Given the description of an element on the screen output the (x, y) to click on. 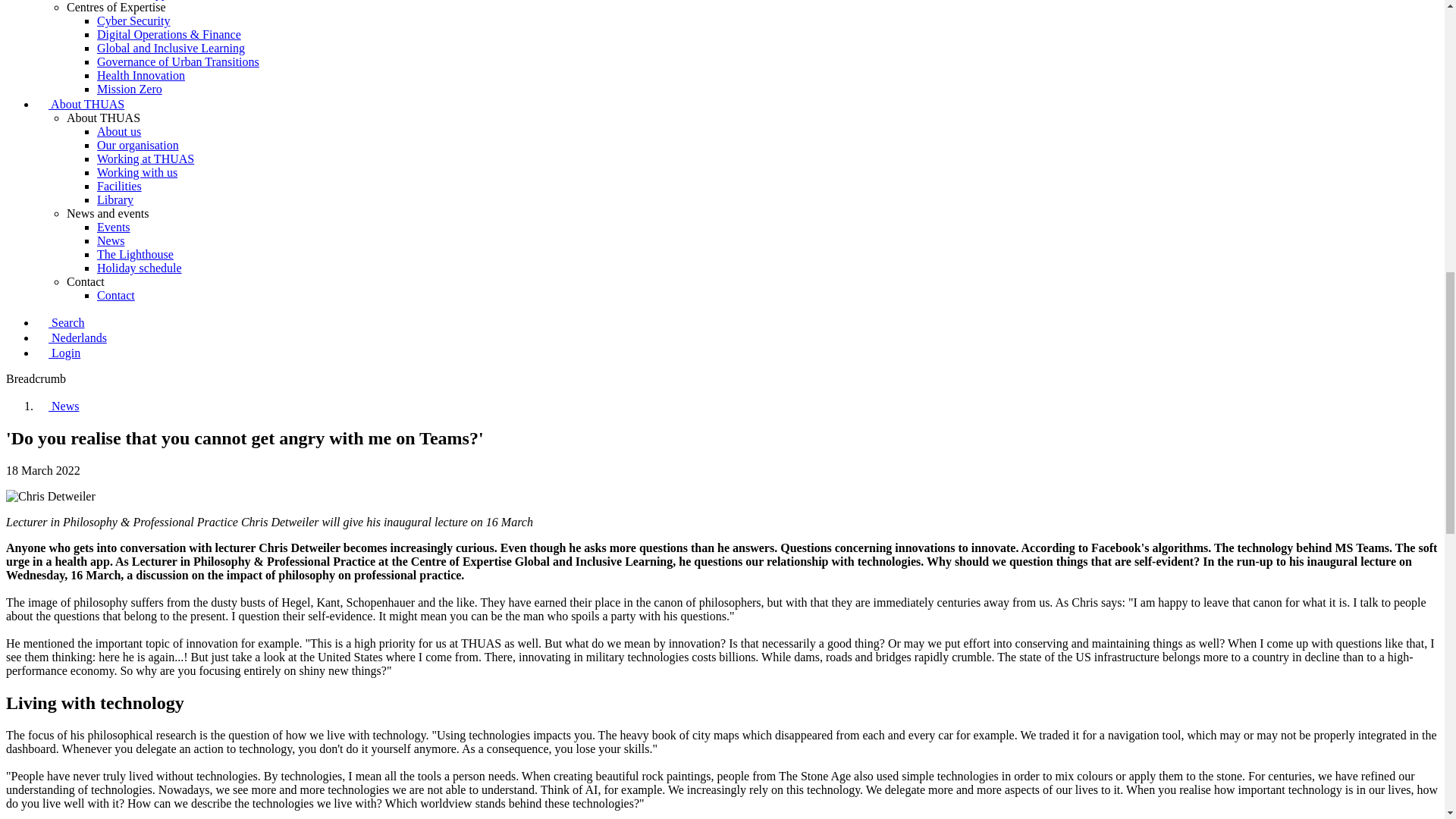
Governance of Urban Transitions (178, 61)
Health Innovation (140, 74)
Mission Zero (129, 88)
About us (119, 131)
About THUAS (79, 103)
Global and Inclusive Learning (170, 47)
Cyber Security (133, 20)
